Given the description of an element on the screen output the (x, y) to click on. 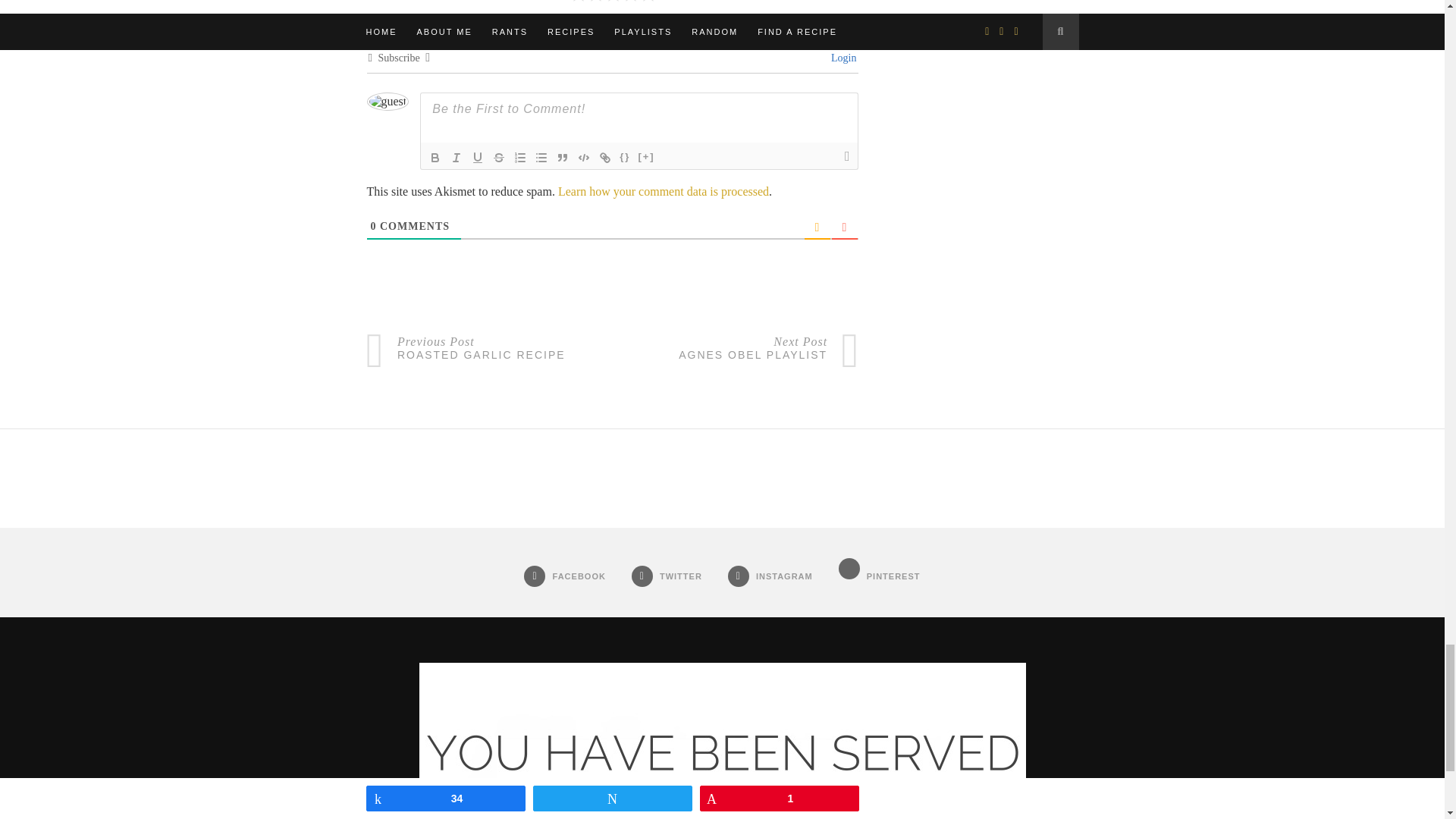
Strike (498, 157)
Ordered List (520, 157)
Blockquote (562, 157)
Source Code (624, 157)
Code Block (583, 157)
Unordered List (541, 157)
Underline (477, 157)
Bold (435, 157)
Italic (456, 157)
Spoiler (645, 157)
Link (604, 157)
